Given the description of an element on the screen output the (x, y) to click on. 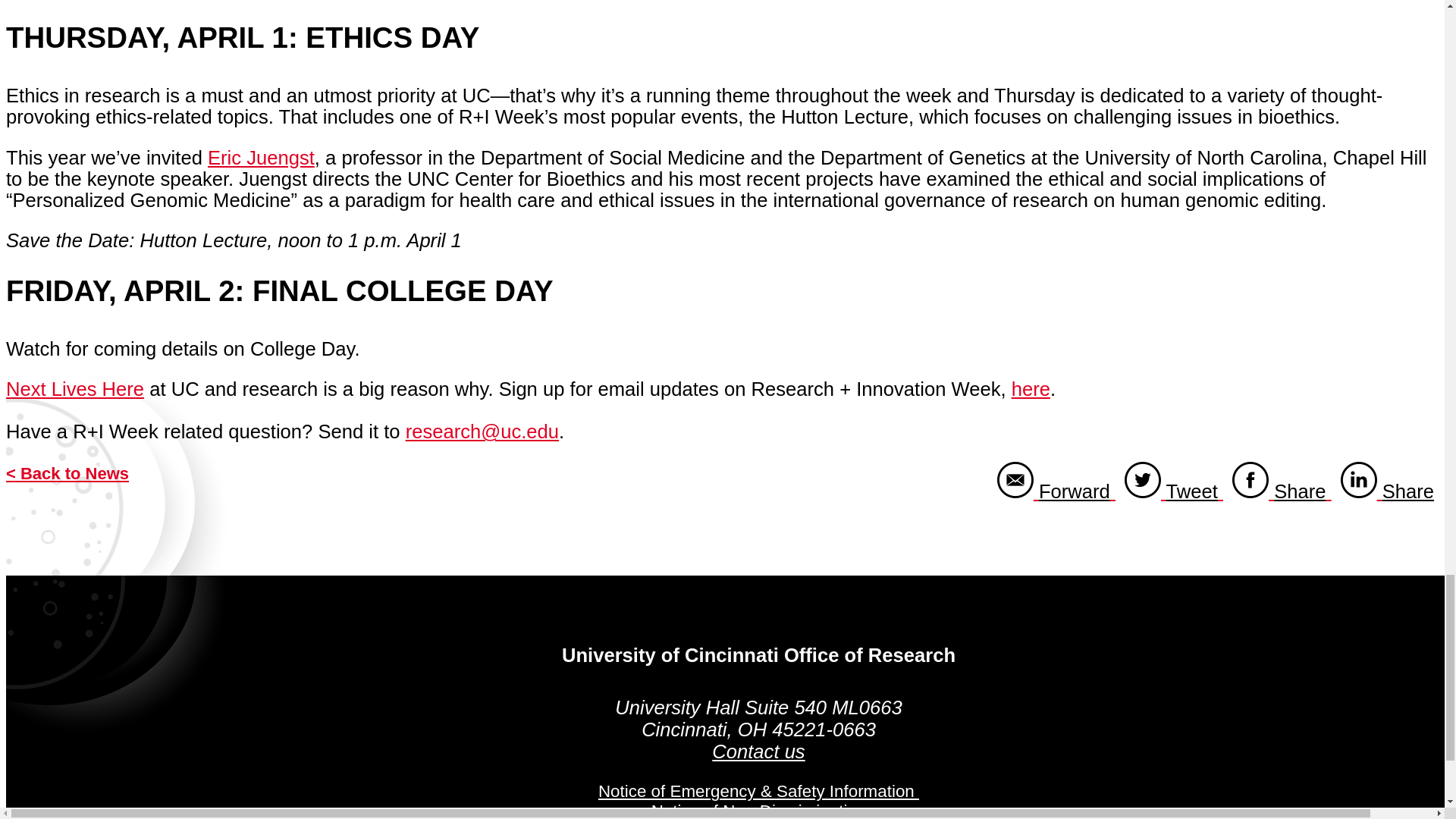
Forward (1055, 490)
forward via email (1055, 490)
share via linkedin (1387, 490)
Eric Juengst (1281, 490)
Tweet (261, 157)
Next Lives Here (1173, 490)
share via facebook (74, 388)
here (1281, 490)
tweet via twitter (1030, 388)
